Given the description of an element on the screen output the (x, y) to click on. 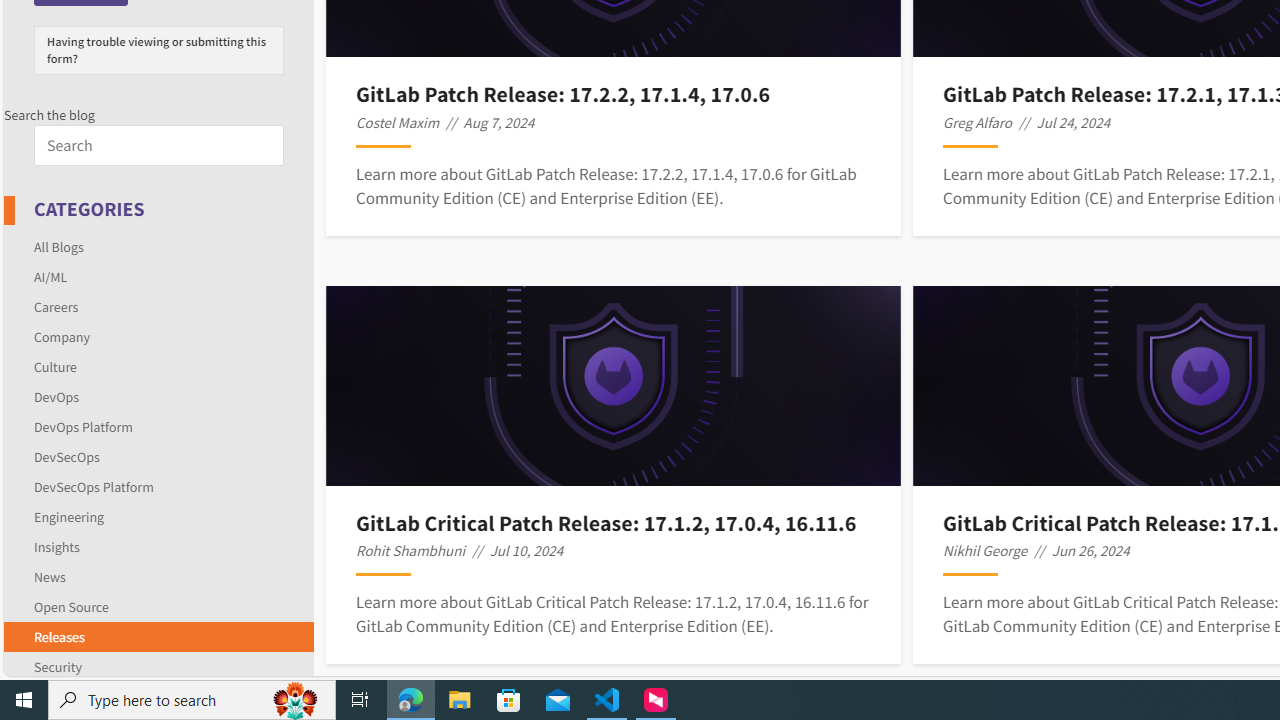
All Blogs (158, 246)
GitLab Patch Release: 17.2.2, 17.1.4, 17.0.6 (613, 93)
All Blogs (59, 245)
Security (57, 666)
Culture (56, 366)
Releases (158, 636)
Culture (158, 366)
AI/ML (158, 276)
Engineering (69, 515)
Open Source (158, 606)
Company (158, 336)
DevOps Platform (158, 426)
Greg Alfaro (977, 121)
